Given the description of an element on the screen output the (x, y) to click on. 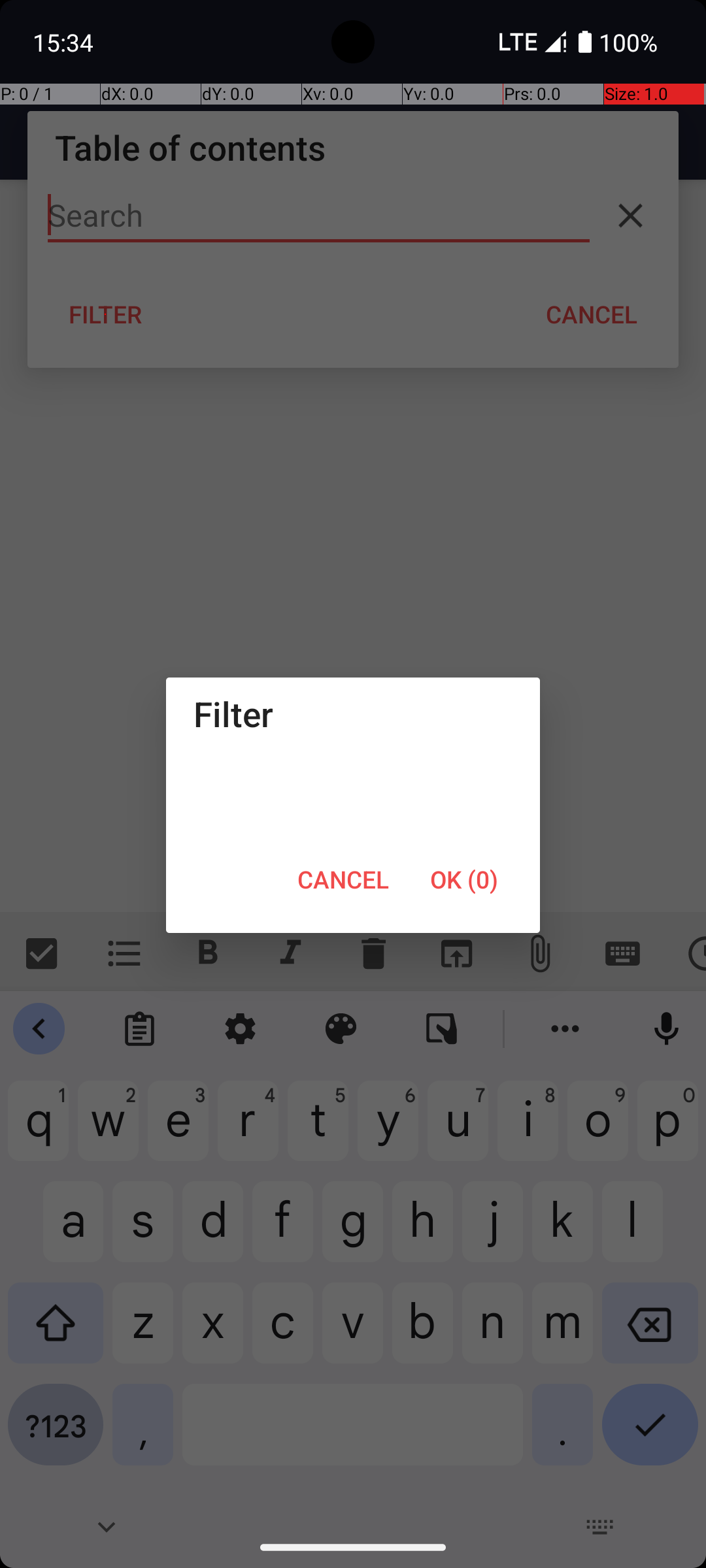
OK (0) Element type: android.widget.Button (464, 879)
